Given the description of an element on the screen output the (x, y) to click on. 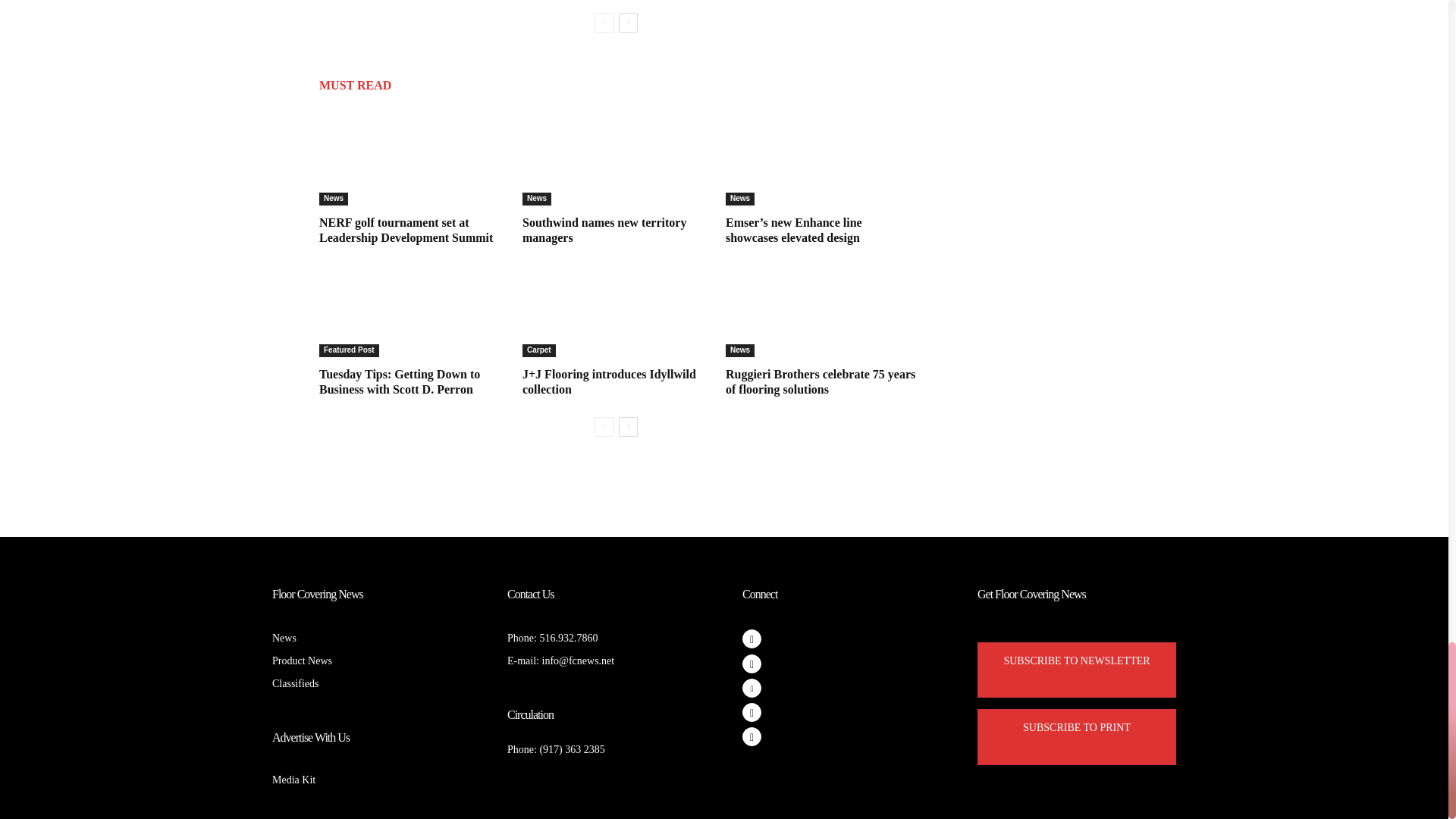
Southwind names new territory managers (603, 230)
Southwind names new territory managers (618, 156)
NERF golf tournament set at Leadership Development Summit (405, 230)
NERF golf tournament set at Leadership Development Summit (414, 156)
